Given the description of an element on the screen output the (x, y) to click on. 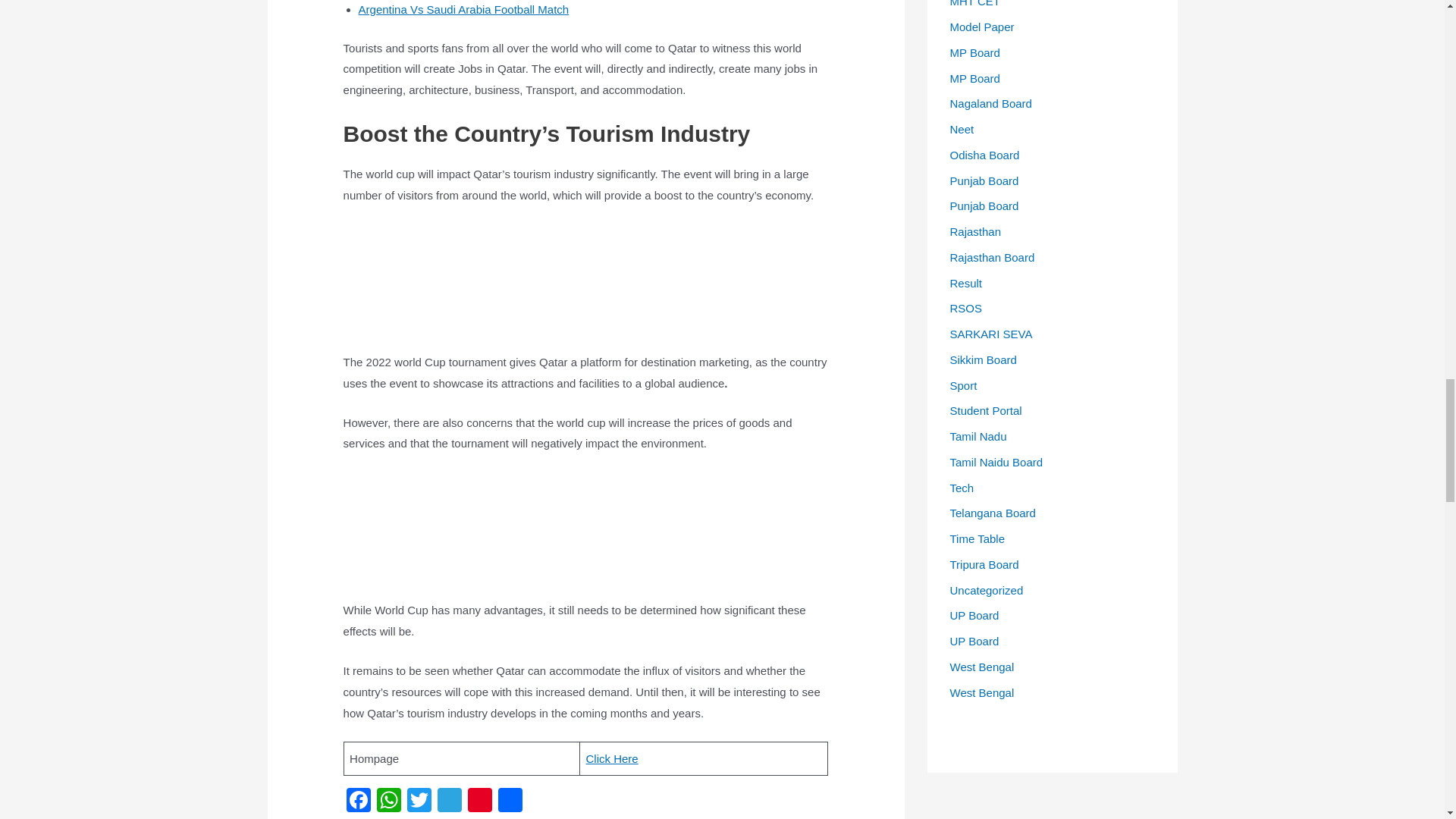
Pinterest (479, 801)
Twitter (418, 801)
WhatsApp (389, 801)
Telegram (448, 801)
Facebook (358, 801)
